Given the description of an element on the screen output the (x, y) to click on. 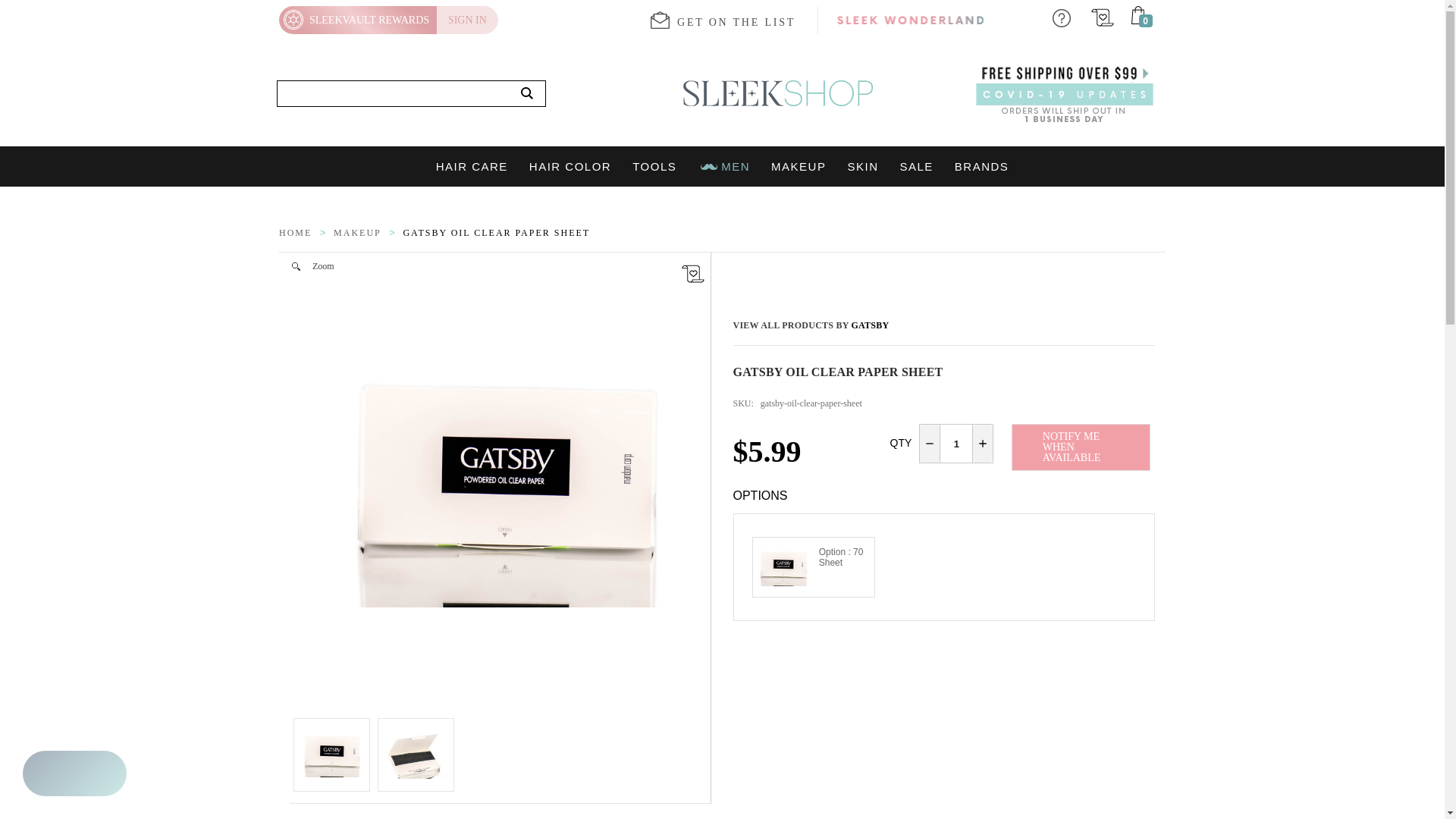
SleekVault Rewards (357, 19)
Search the store (526, 94)
sleek wonderland (910, 19)
HAIR CARE (471, 166)
SIGN IN (466, 19)
Sign In (466, 19)
SLEEKVAULT REWARDS (357, 19)
